Given the description of an element on the screen output the (x, y) to click on. 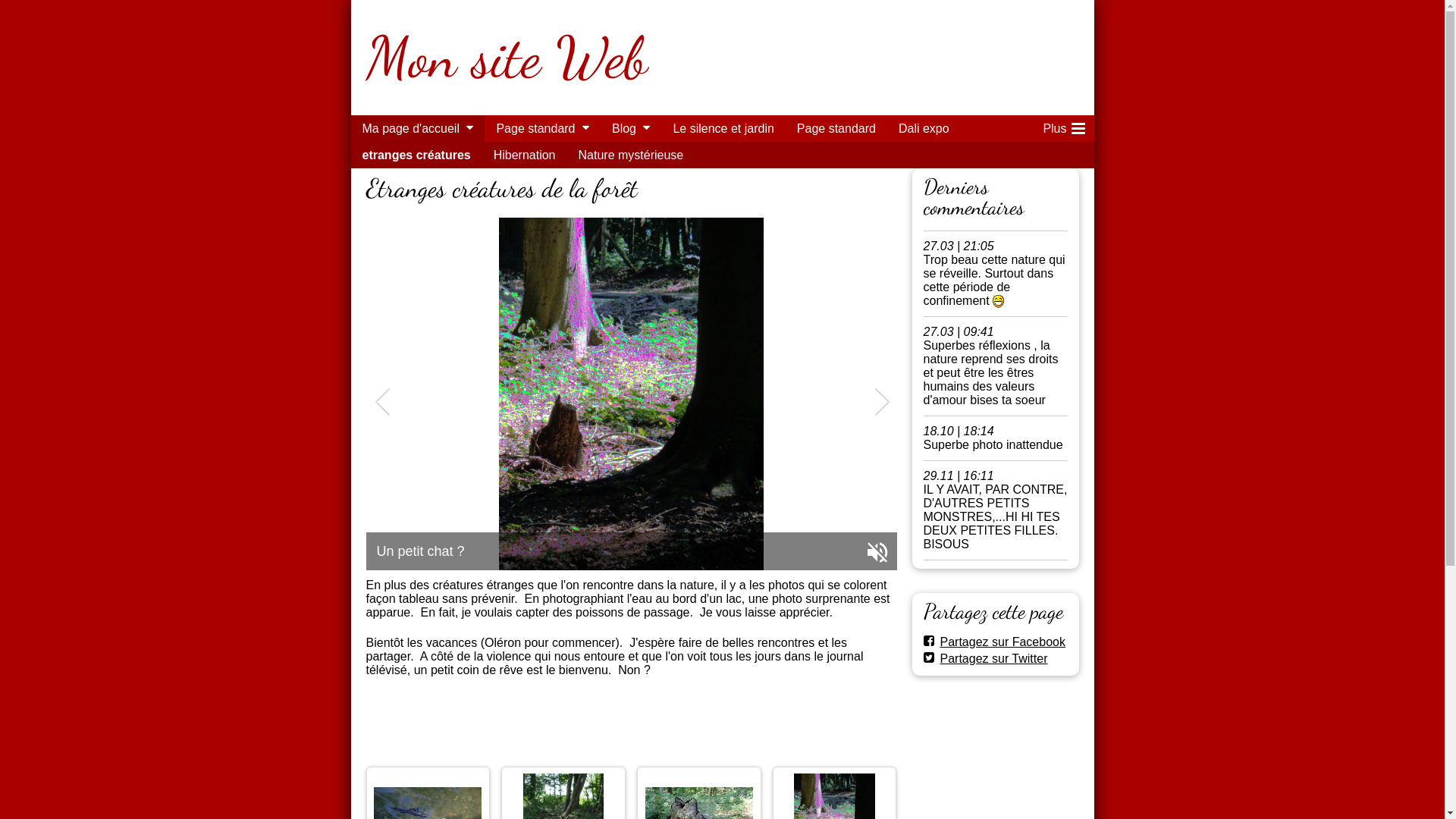
Le silence et jardin Element type: text (722, 128)
Page standard Element type: text (836, 128)
Ma page d'accueil Element type: text (406, 128)
Partagez sur Facebook Element type: text (994, 641)
Mon site Web Element type: text (505, 57)
Page standard Element type: text (531, 128)
Hibernation Element type: text (524, 154)
Un petit chat ? Element type: text (630, 393)
Plus Element type: text (1062, 128)
Dali expo Element type: text (923, 128)
Partagez sur Twitter Element type: text (985, 658)
Blog Element type: text (620, 128)
